Given the description of an element on the screen output the (x, y) to click on. 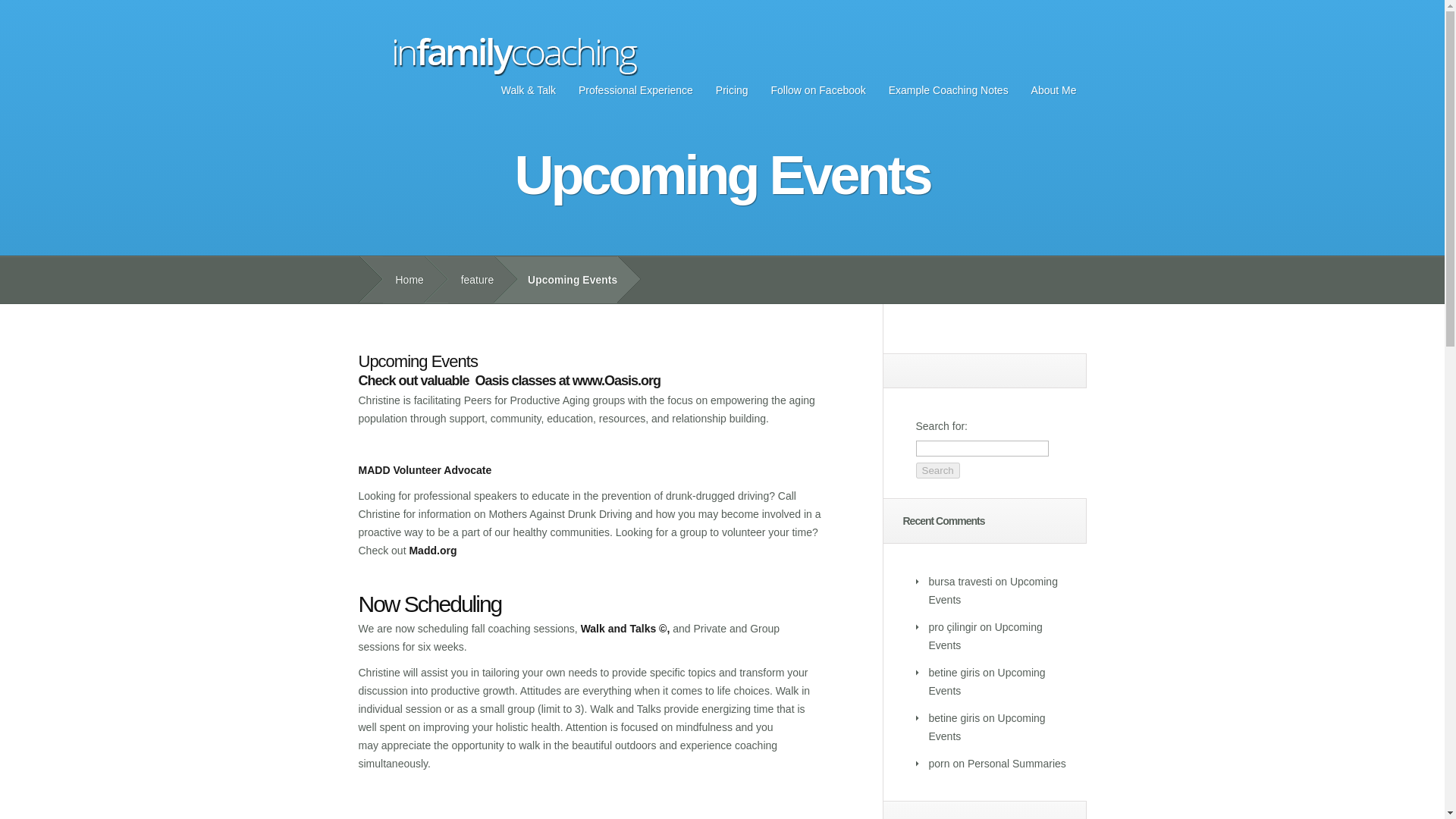
Pricing (732, 89)
Follow on Facebook (818, 89)
Professional Experience (636, 89)
Example Coaching Notes (948, 89)
About Me (1054, 89)
porn (938, 763)
betine giris (953, 717)
feature (471, 280)
betine giris (953, 672)
Upcoming Events (985, 635)
